Given the description of an element on the screen output the (x, y) to click on. 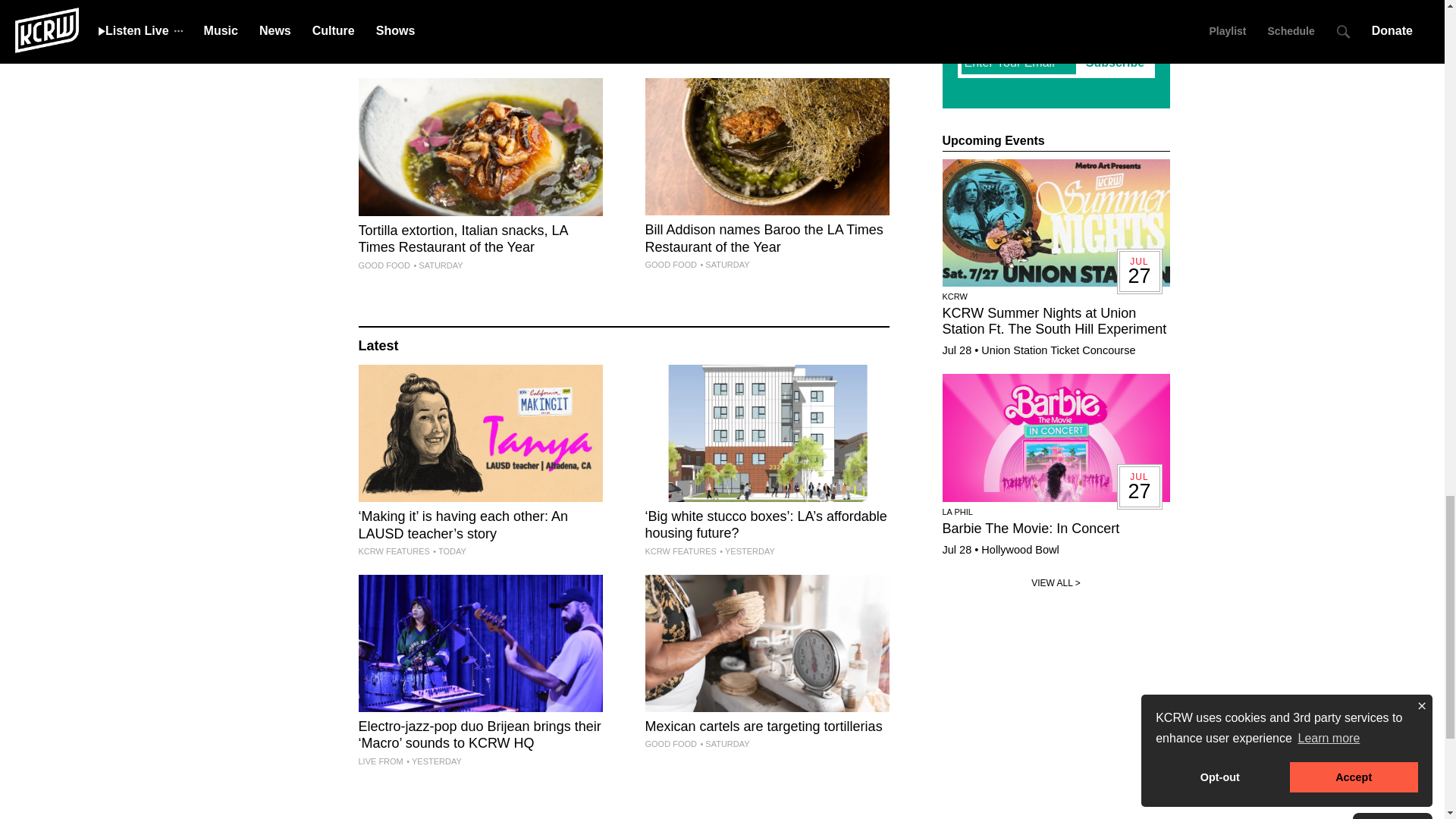
Friday, July 26th 2024, 3:00 pm (448, 551)
Saturday, July 20th 2024, 3:00 am (724, 54)
Thursday, July 25th 2024, 3:00 pm (746, 551)
Saturday, July 20th 2024, 3:00 am (438, 38)
Saturday, July 20th 2024, 3:00 am (438, 265)
Saturday, July 20th 2024, 3:00 am (724, 264)
Subscribe (1114, 62)
